Given the description of an element on the screen output the (x, y) to click on. 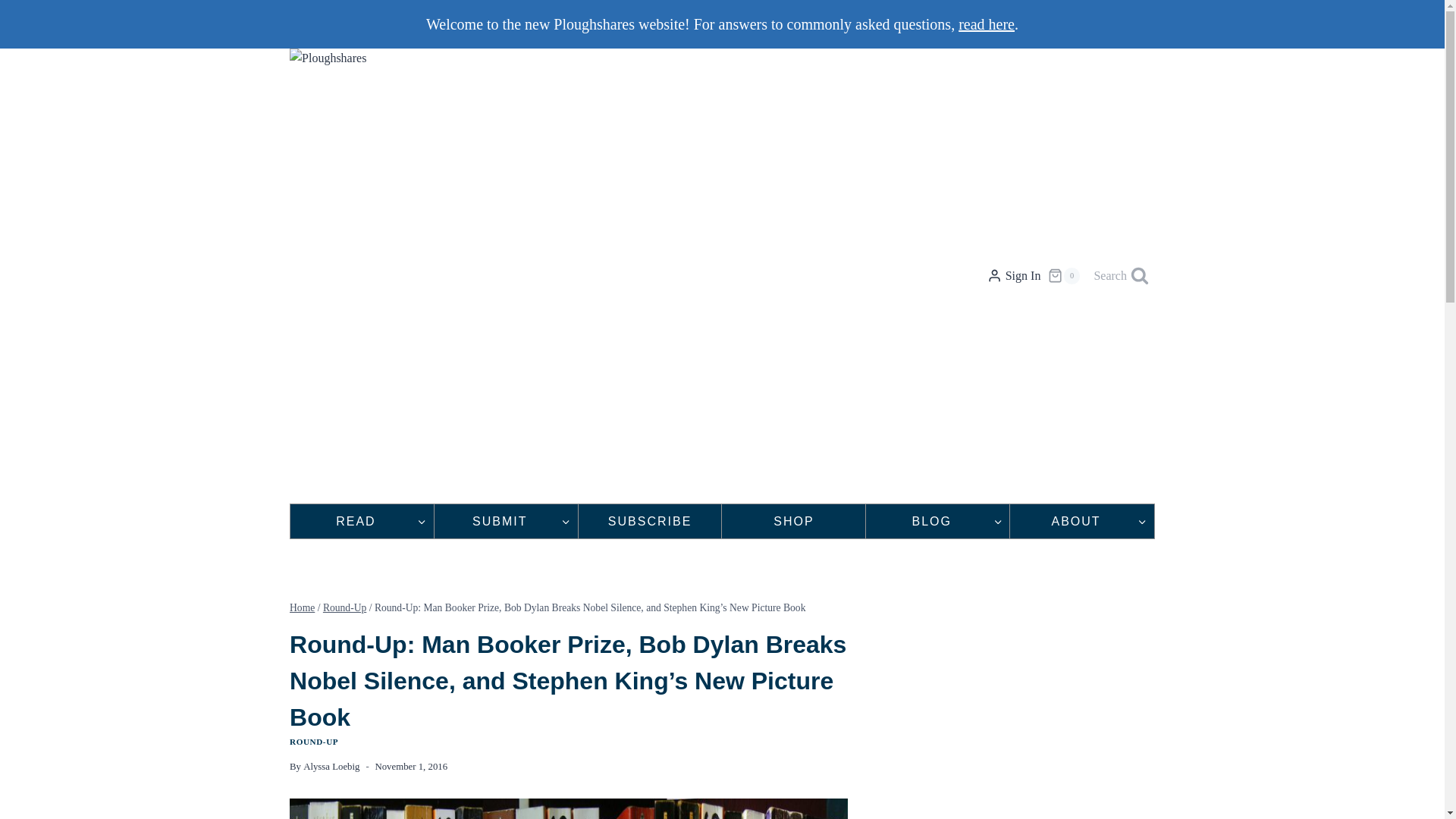
BLOG (937, 521)
0 (1064, 275)
read here (986, 23)
ABOUT (1082, 521)
READ (361, 521)
SUBSCRIBE (650, 521)
SUBMIT (505, 521)
SHOP (793, 521)
Search (1120, 275)
Sign In (1014, 276)
